Given the description of an element on the screen output the (x, y) to click on. 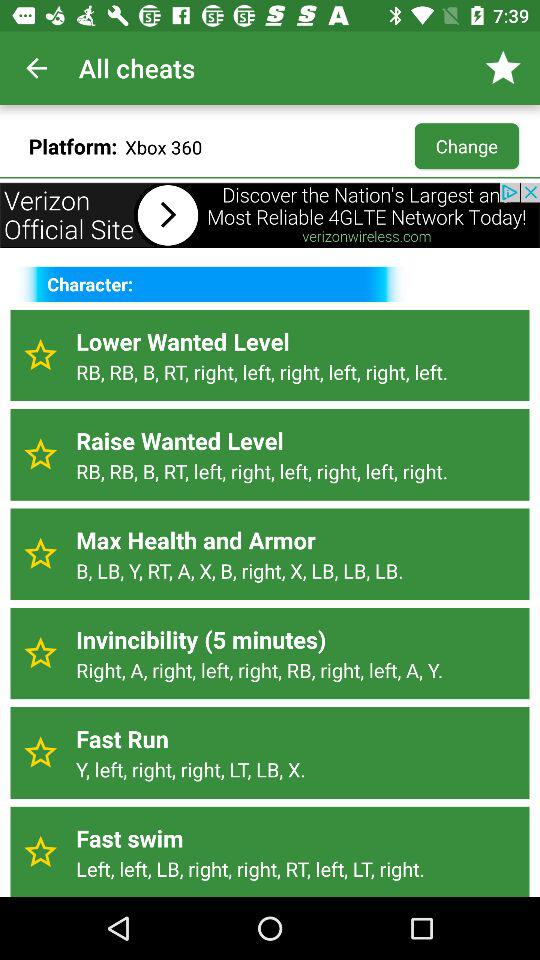
go to favorite (40, 851)
